Given the description of an element on the screen output the (x, y) to click on. 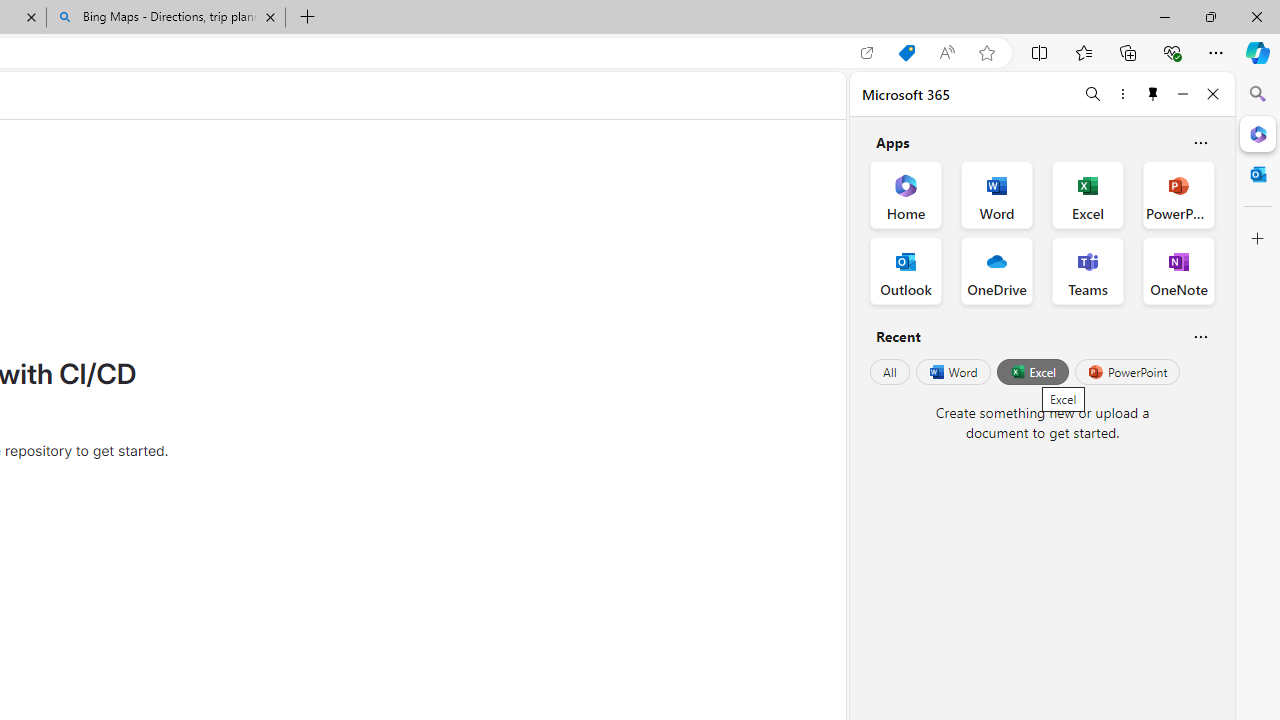
Excel (1031, 372)
Outlook Office App (906, 270)
Word (952, 372)
Is this helpful? (1200, 336)
